Given the description of an element on the screen output the (x, y) to click on. 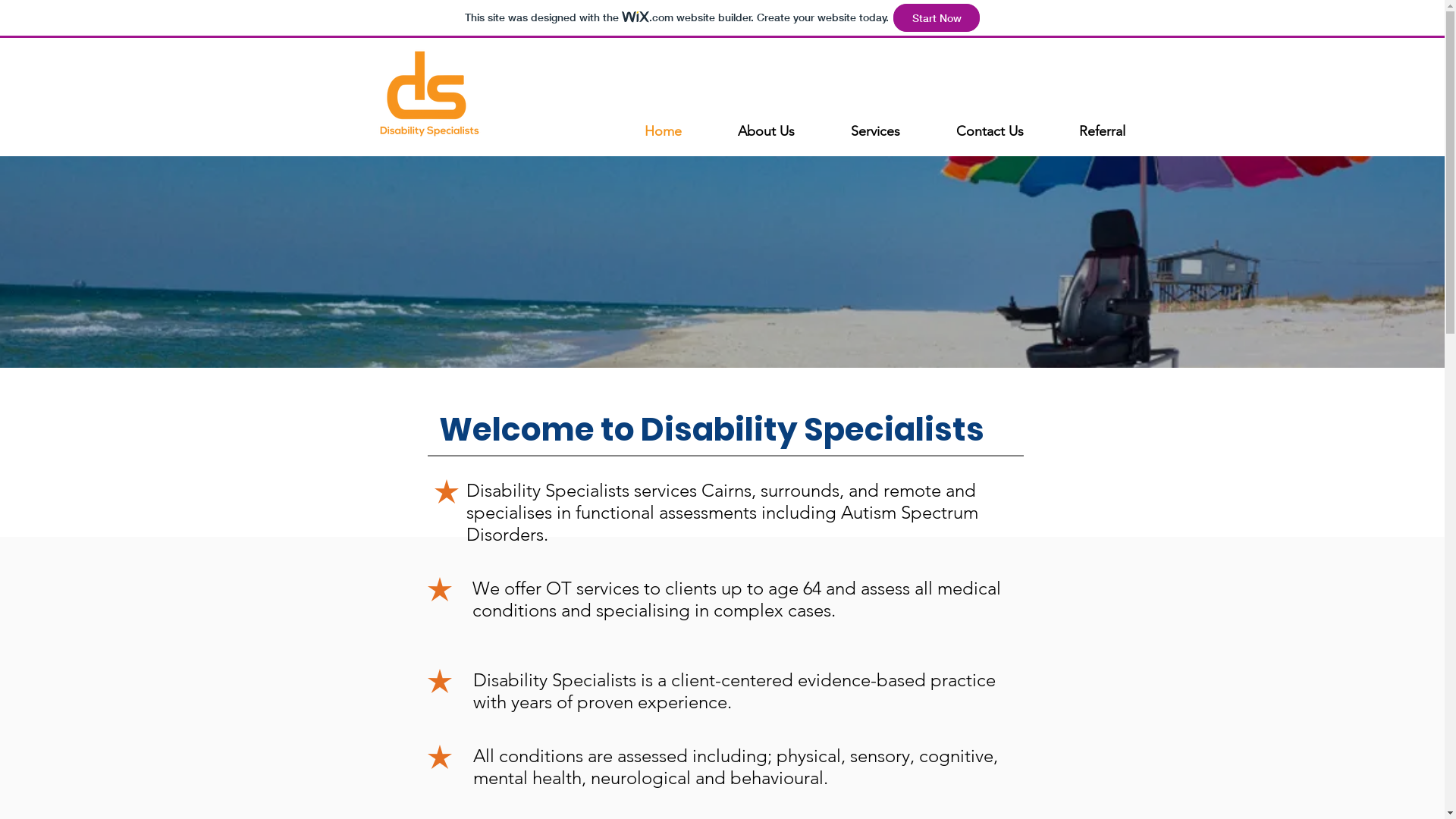
Referral Element type: text (1101, 131)
Home Element type: text (662, 131)
Services Element type: text (874, 131)
About Us Element type: text (765, 131)
Contact Us Element type: text (989, 131)
